Given the description of an element on the screen output the (x, y) to click on. 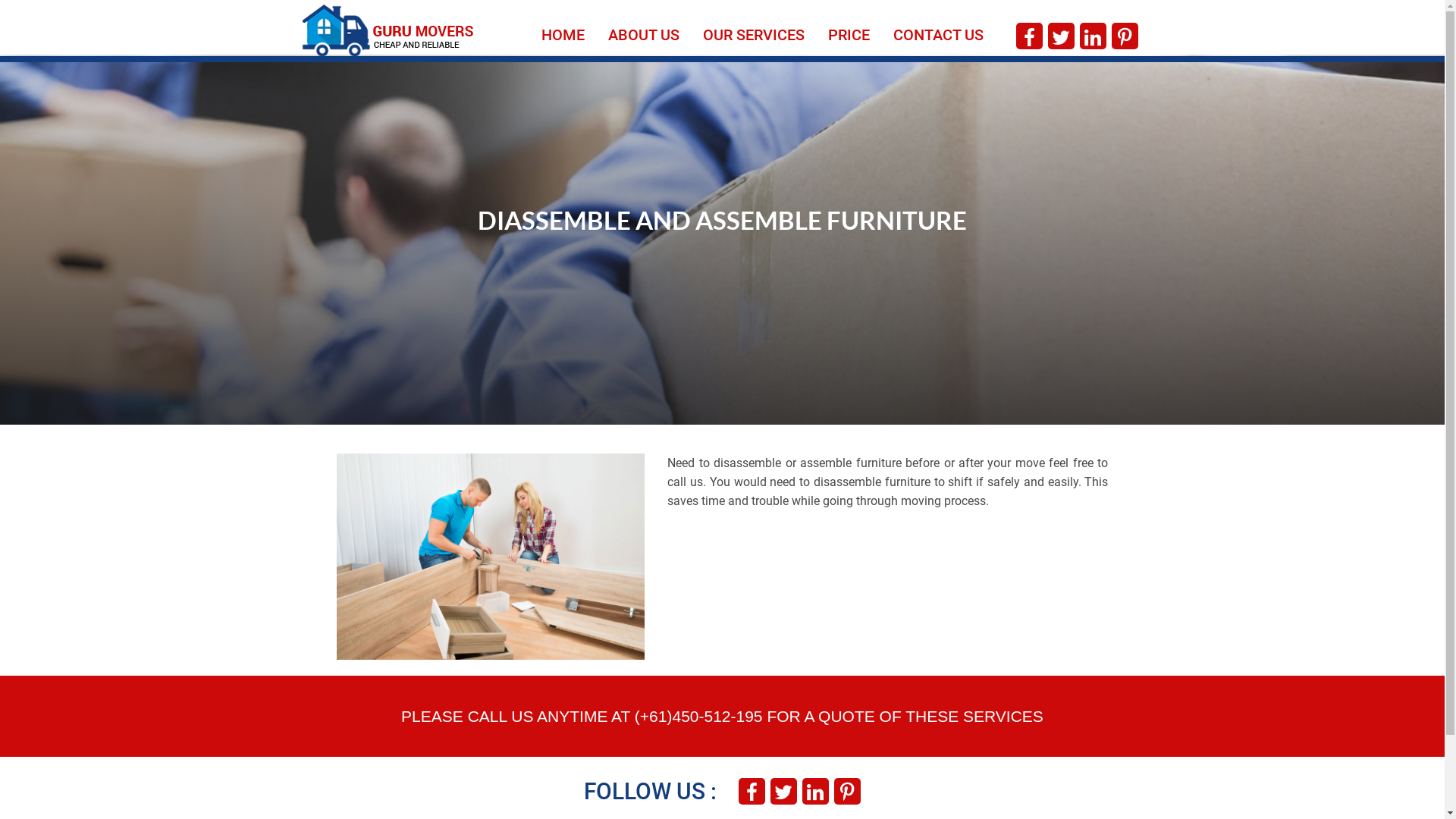
Twitter Element type: text (1060, 37)
Twitter Element type: hover (1060, 37)
(+61)450-512-195 Element type: text (698, 715)
Facebook Element type: hover (751, 792)
OUR SERVICES Element type: text (753, 28)
Linkedin Element type: hover (814, 792)
Linkedin Element type: hover (1092, 37)
ABOUT US Element type: text (643, 28)
PINTEREST Element type: text (847, 792)
Facebook Element type: hover (1029, 37)
LINKEDIN Element type: text (814, 792)
Linkedin Element type: text (1092, 37)
PRICE Element type: text (848, 28)
CONTACT US Element type: text (938, 28)
SKIP TO CONTENT Element type: text (541, 19)
Facebook Element type: text (1029, 37)
Twitter Element type: hover (783, 792)
FACEBOOK Element type: text (751, 792)
Pinterest Element type: text (1124, 37)
HOME Element type: text (562, 28)
Pinterest Element type: hover (1124, 37)
TWITTER Element type: text (783, 792)
Guru Movers Element type: hover (387, 28)
Pinterest Element type: hover (847, 792)
